Given the description of an element on the screen output the (x, y) to click on. 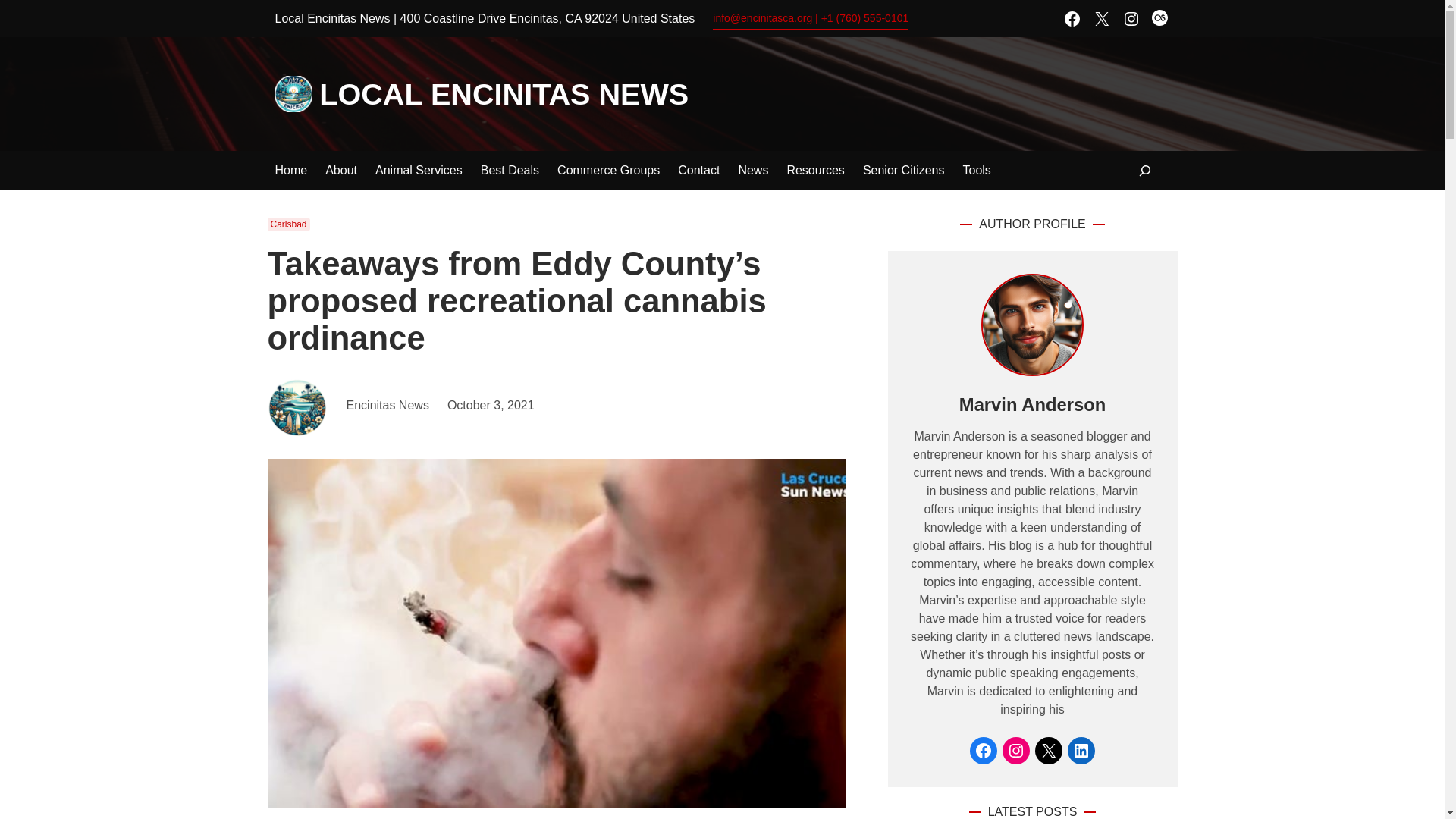
Resources (815, 169)
Home (291, 170)
X (1100, 18)
Best Deals (509, 169)
Facebook (1071, 18)
Commerce Groups (608, 169)
Animal Services (419, 169)
Contact (698, 169)
About (340, 169)
Tools (976, 169)
